Given the description of an element on the screen output the (x, y) to click on. 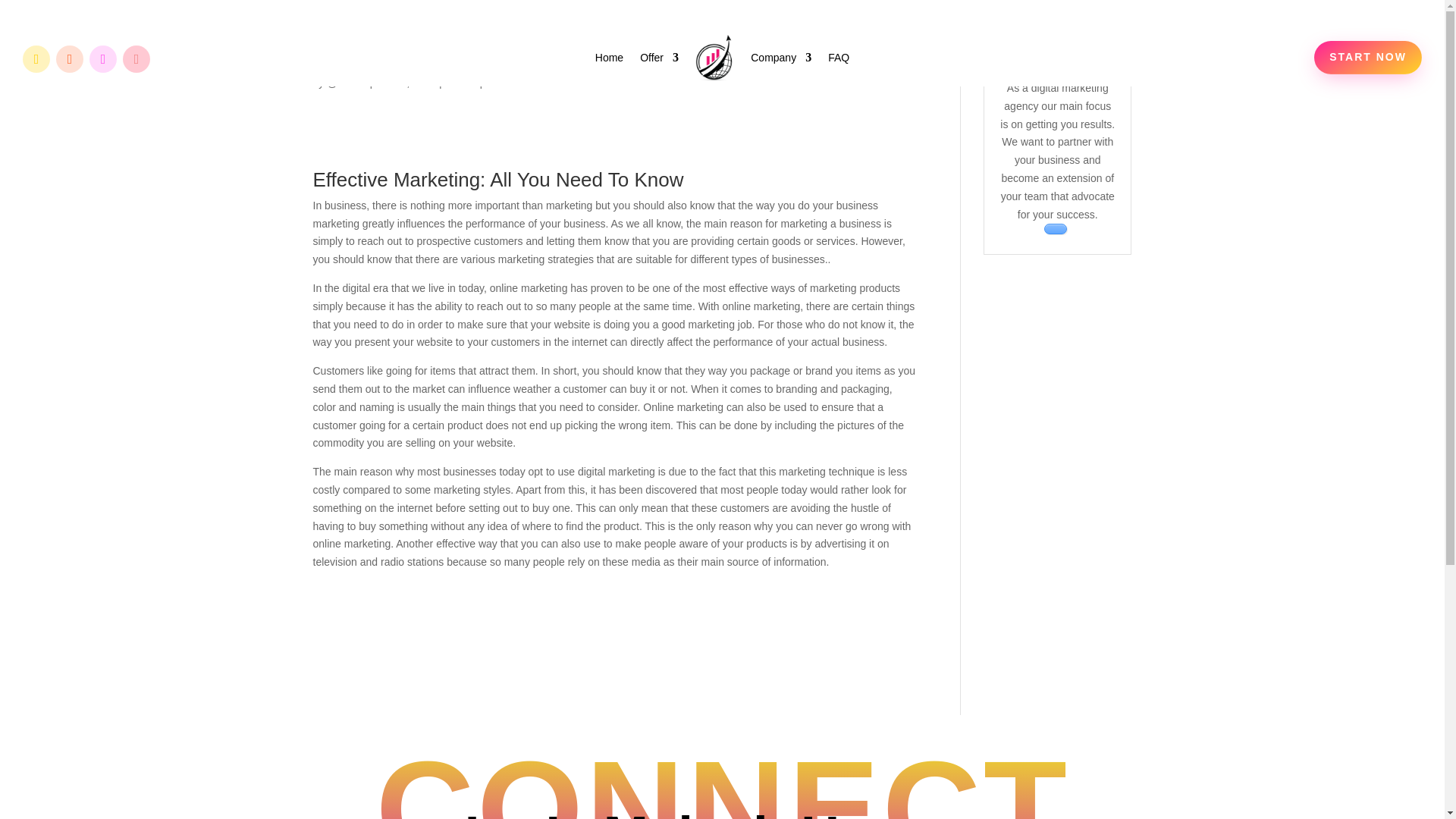
START NOW (1368, 57)
Follow on Facebook (36, 58)
Follow on Pinterest (135, 58)
Company (780, 57)
Follow on X (69, 58)
Follow on LinkedIn (102, 58)
